Given the description of an element on the screen output the (x, y) to click on. 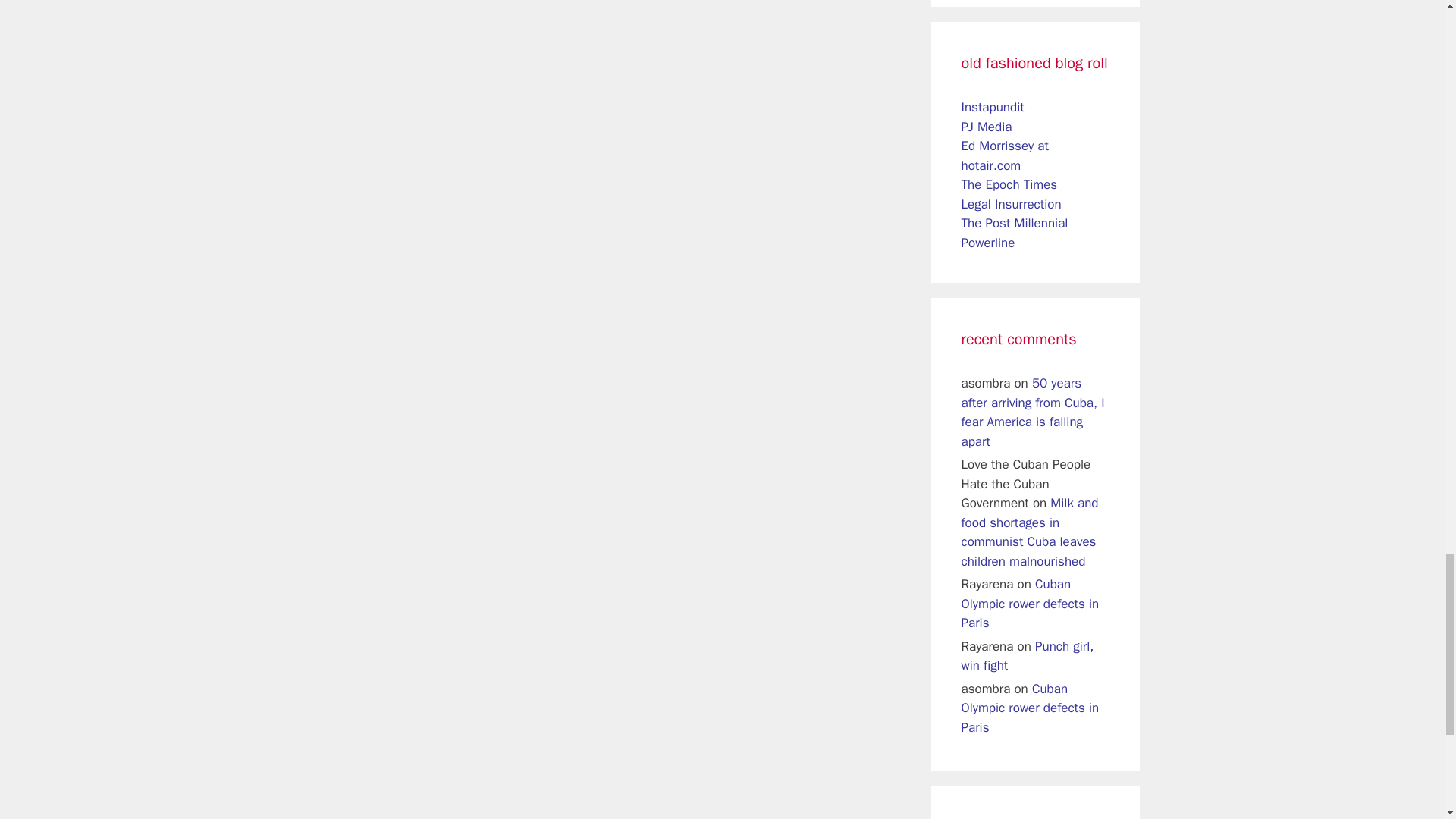
Instapundit (992, 107)
The Epoch Times (1009, 184)
The Post Millennial (1014, 222)
Legal Insurrection (1010, 204)
Ed Morrissey at hotair.com (1004, 155)
PJ Media (985, 126)
